Given the description of an element on the screen output the (x, y) to click on. 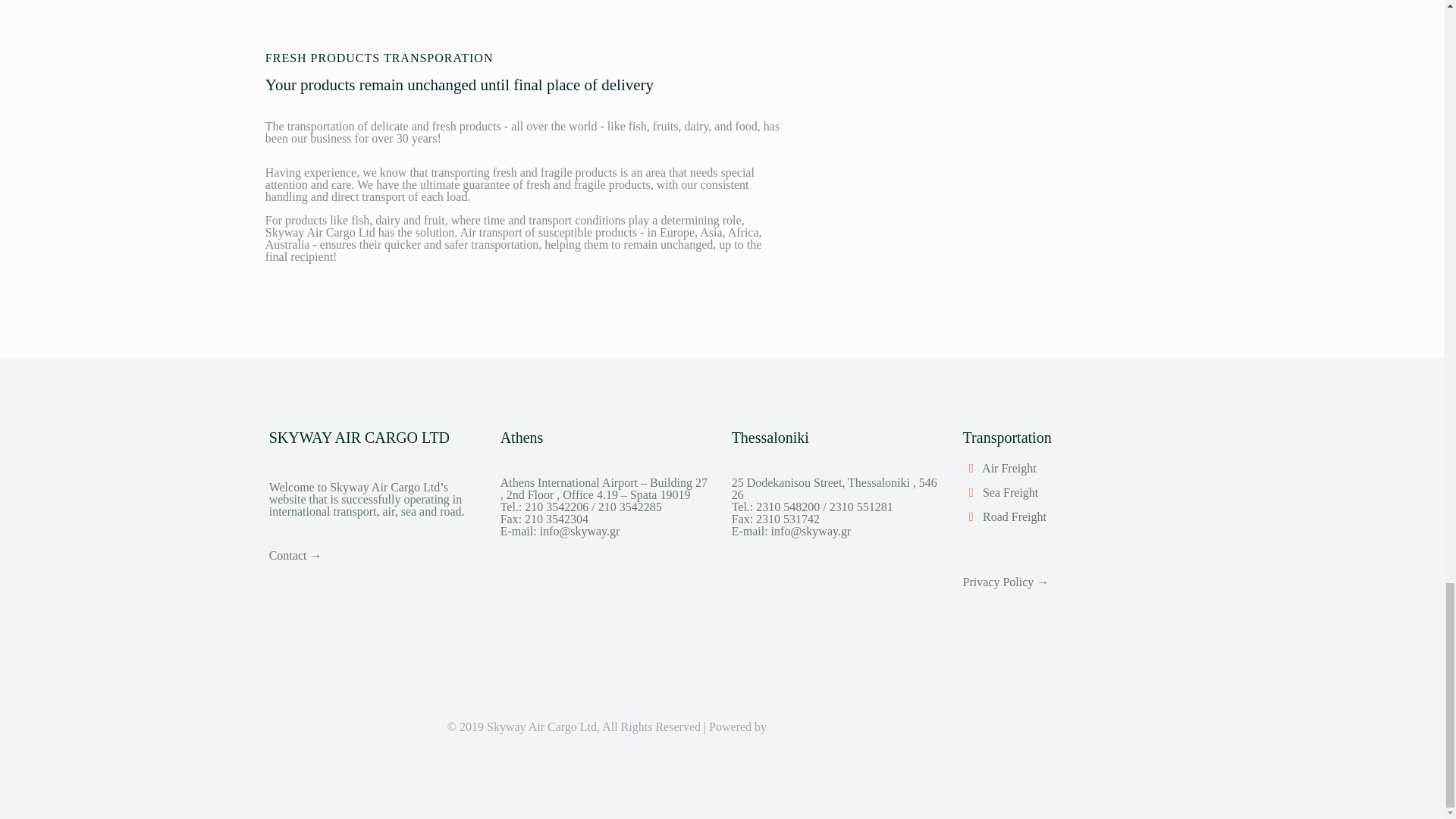
2310 551281 (861, 506)
2310 548200 (788, 506)
Facebook (722, 797)
210 3542206 (557, 506)
210 3542285 (630, 506)
Air Freight (1008, 468)
